Given the description of an element on the screen output the (x, y) to click on. 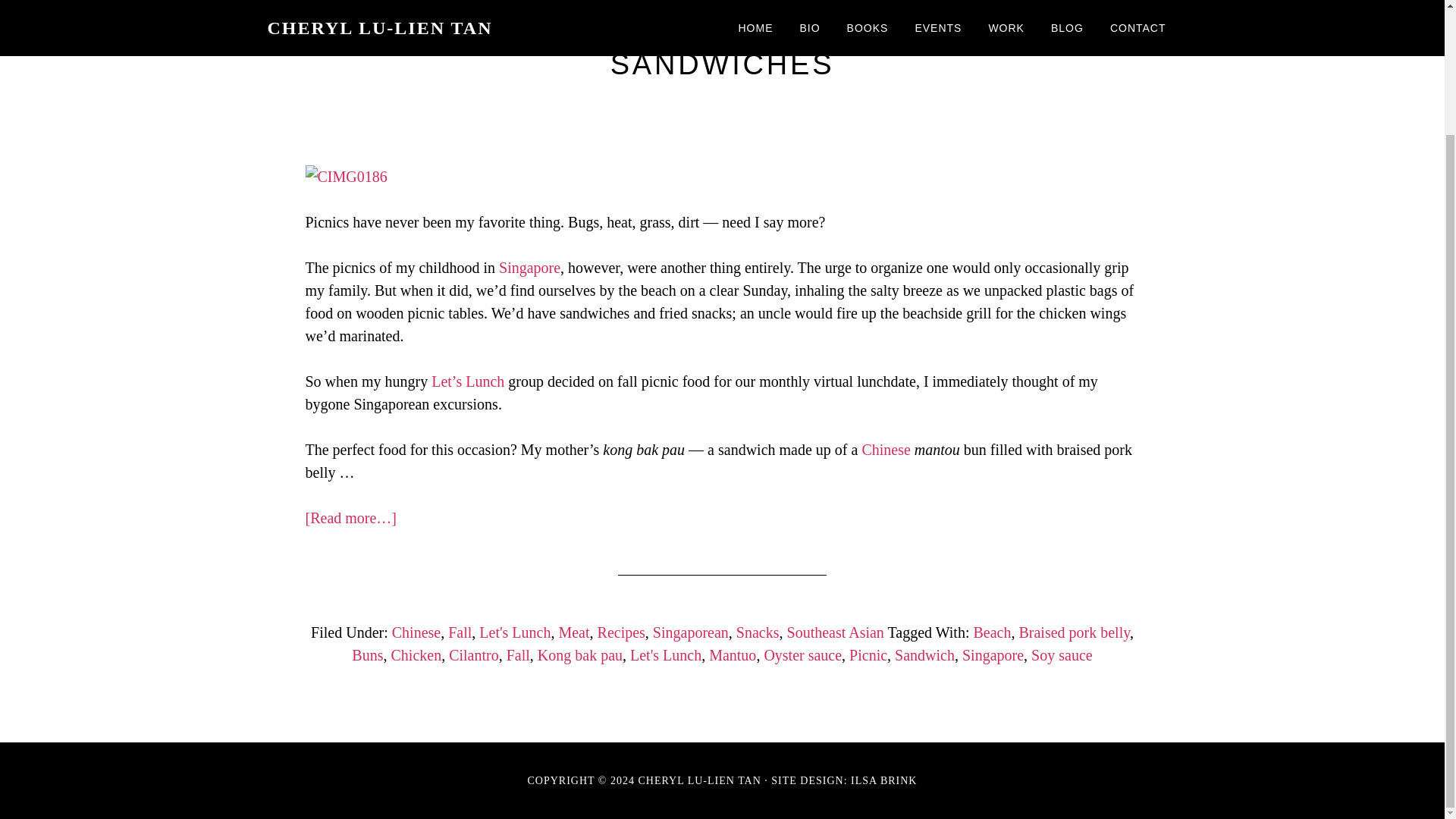
Meat (573, 632)
Chinese (885, 449)
KONG BAK PAU: BRAISED PORK BELLY SANDWICHES (721, 46)
Let's Lunch (665, 655)
Kong bak pau (580, 655)
CIMG0186 (345, 176)
Singapore (992, 655)
Chicken (415, 655)
Fall (459, 632)
Sandwich (925, 655)
